Given the description of an element on the screen output the (x, y) to click on. 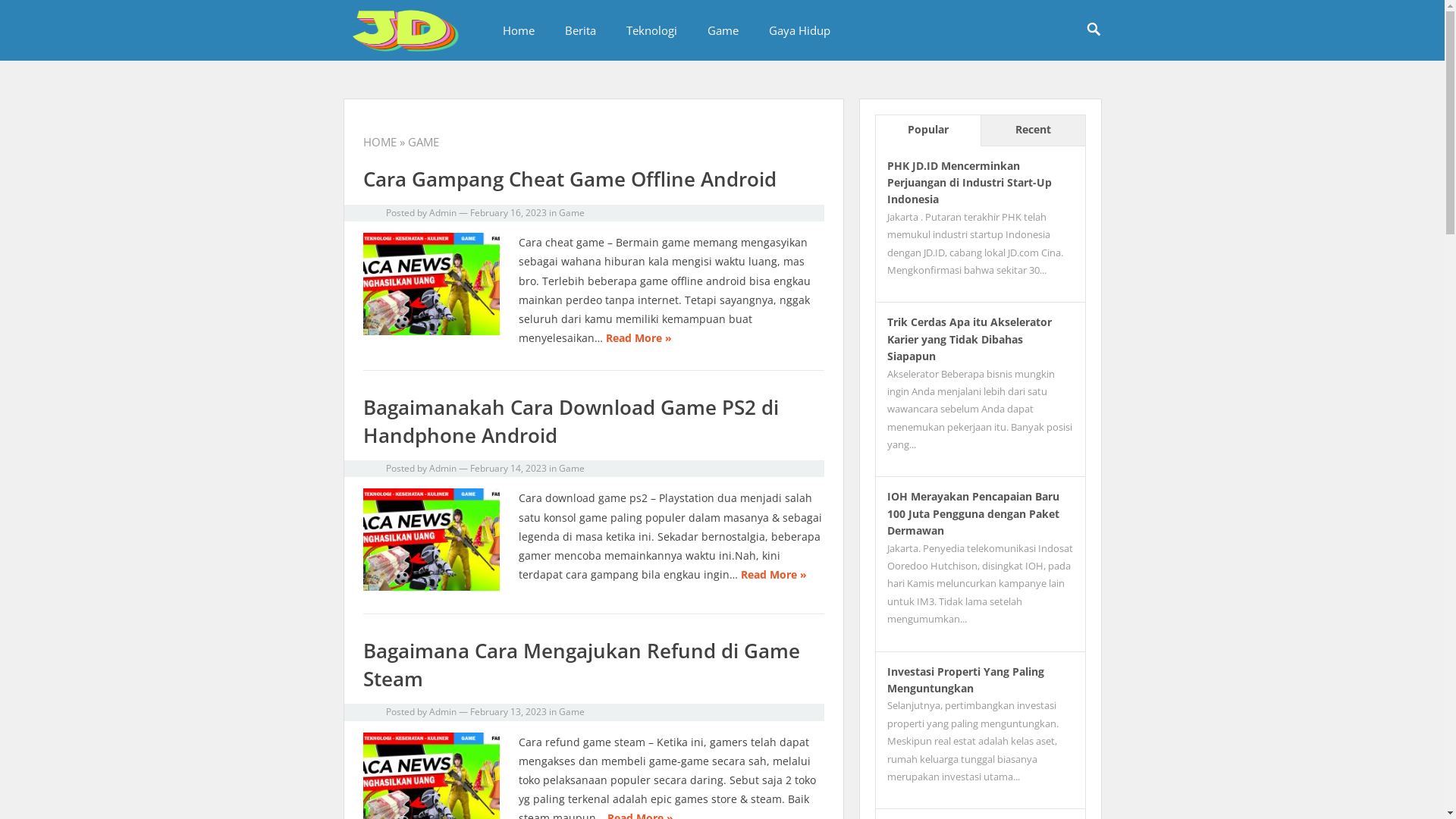
HOME Element type: text (378, 141)
Gaya Hidup Element type: text (799, 30)
Teknologi Element type: text (651, 30)
Popular Element type: text (927, 130)
Bagaimanakah Cara Download Game PS2 di Handphone Android Element type: text (570, 420)
Cara Gampang Cheat Game Offline Android Element type: text (568, 178)
Game Element type: text (722, 30)
Berita Element type: text (579, 30)
Game Element type: text (570, 212)
Game Element type: text (570, 711)
Admin Element type: text (442, 711)
Game Element type: text (570, 467)
Recent Element type: text (1031, 130)
Admin Element type: text (442, 212)
Bagaimana Cara Mengajukan Refund di Game Steam Element type: text (580, 664)
Home Element type: text (517, 30)
Admin Element type: text (442, 467)
Investasi Properti Yang Paling Menguntungkan Element type: text (965, 679)
